Given the description of an element on the screen output the (x, y) to click on. 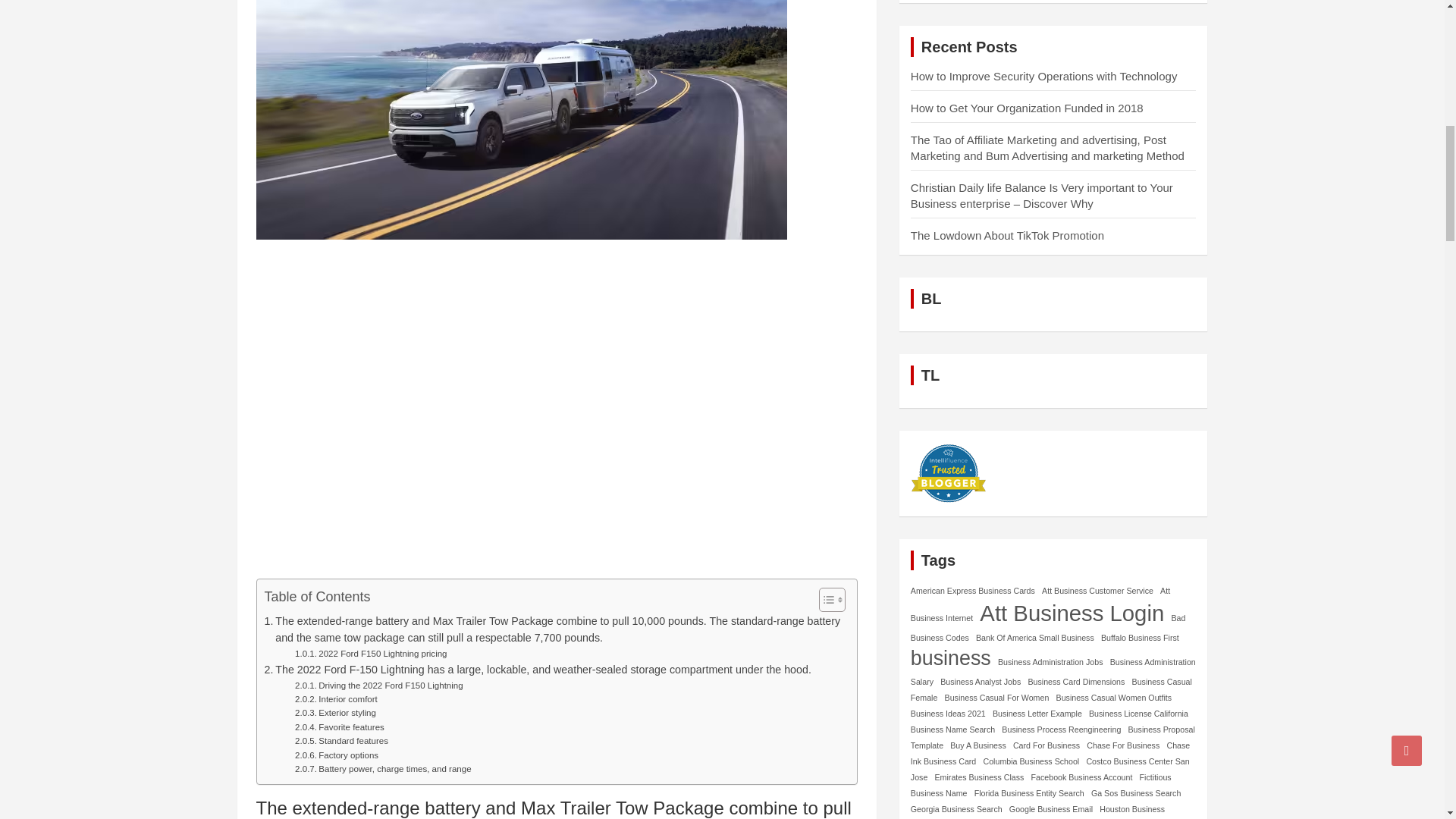
Interior comfort (336, 698)
Driving the 2022 Ford F150 Lightning (379, 685)
Standard features (341, 740)
Factory options (336, 755)
Factory options (336, 755)
Exterior styling (335, 712)
Battery power, charge times, and range (382, 768)
2022 Ford F150 Lightning pricing (370, 653)
